Given the description of an element on the screen output the (x, y) to click on. 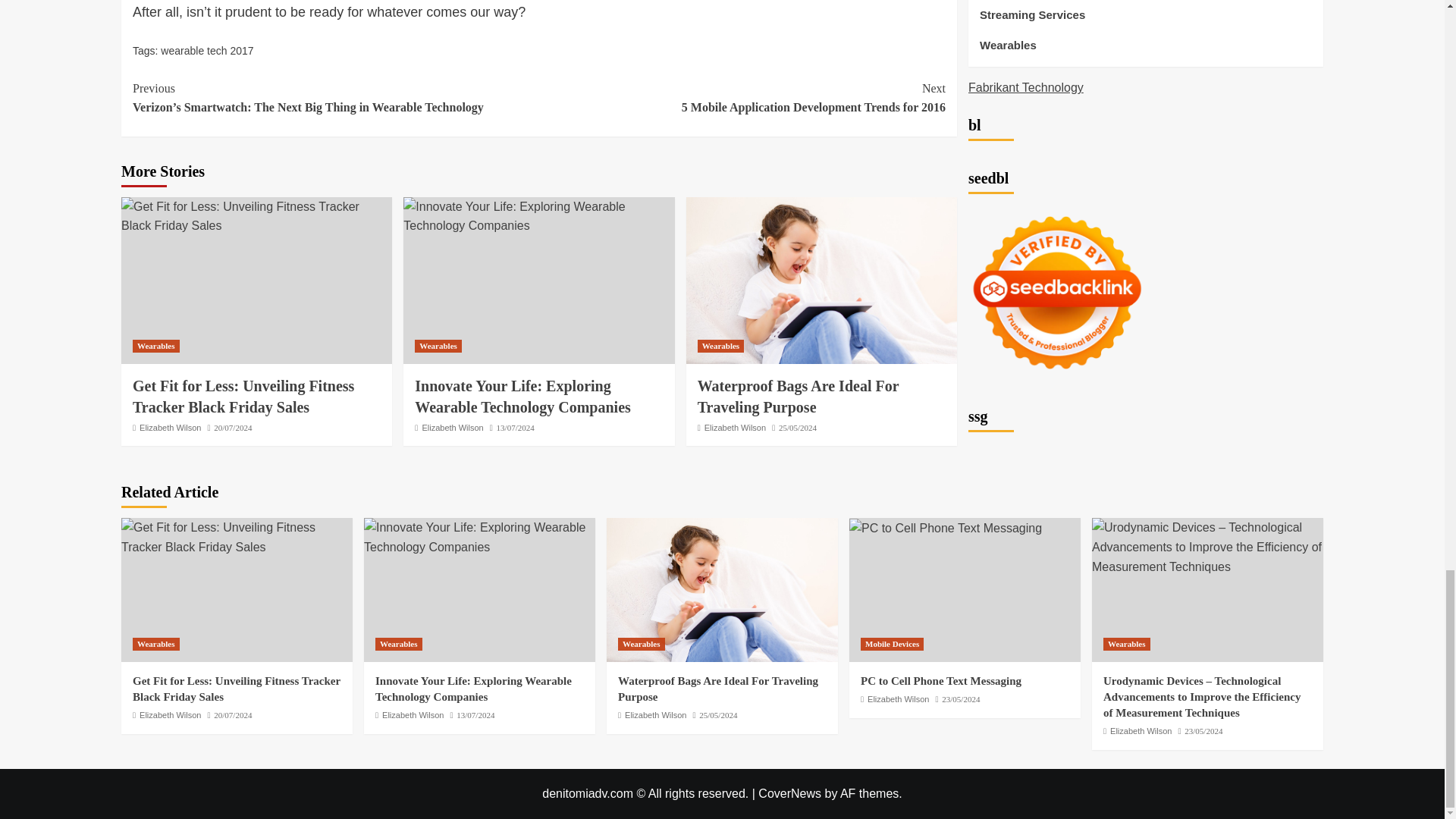
Elizabeth Wilson (452, 427)
Elizabeth Wilson (734, 427)
wearable tech 2017 (206, 50)
Waterproof Bags Are Ideal For Traveling Purpose (820, 280)
Waterproof Bags Are Ideal For Traveling Purpose (722, 589)
Innovate Your Life: Exploring Wearable Technology Companies (538, 216)
Innovate Your Life: Exploring Wearable Technology Companies (522, 396)
Innovate Your Life: Exploring Wearable Technology Companies (479, 536)
PC to Cell Phone Text Messaging (945, 528)
Seedbacklink (1056, 192)
Wearables (720, 345)
Elizabeth Wilson (169, 427)
Wearables (155, 345)
Waterproof Bags Are Ideal For Traveling Purpose (798, 396)
